Given the description of an element on the screen output the (x, y) to click on. 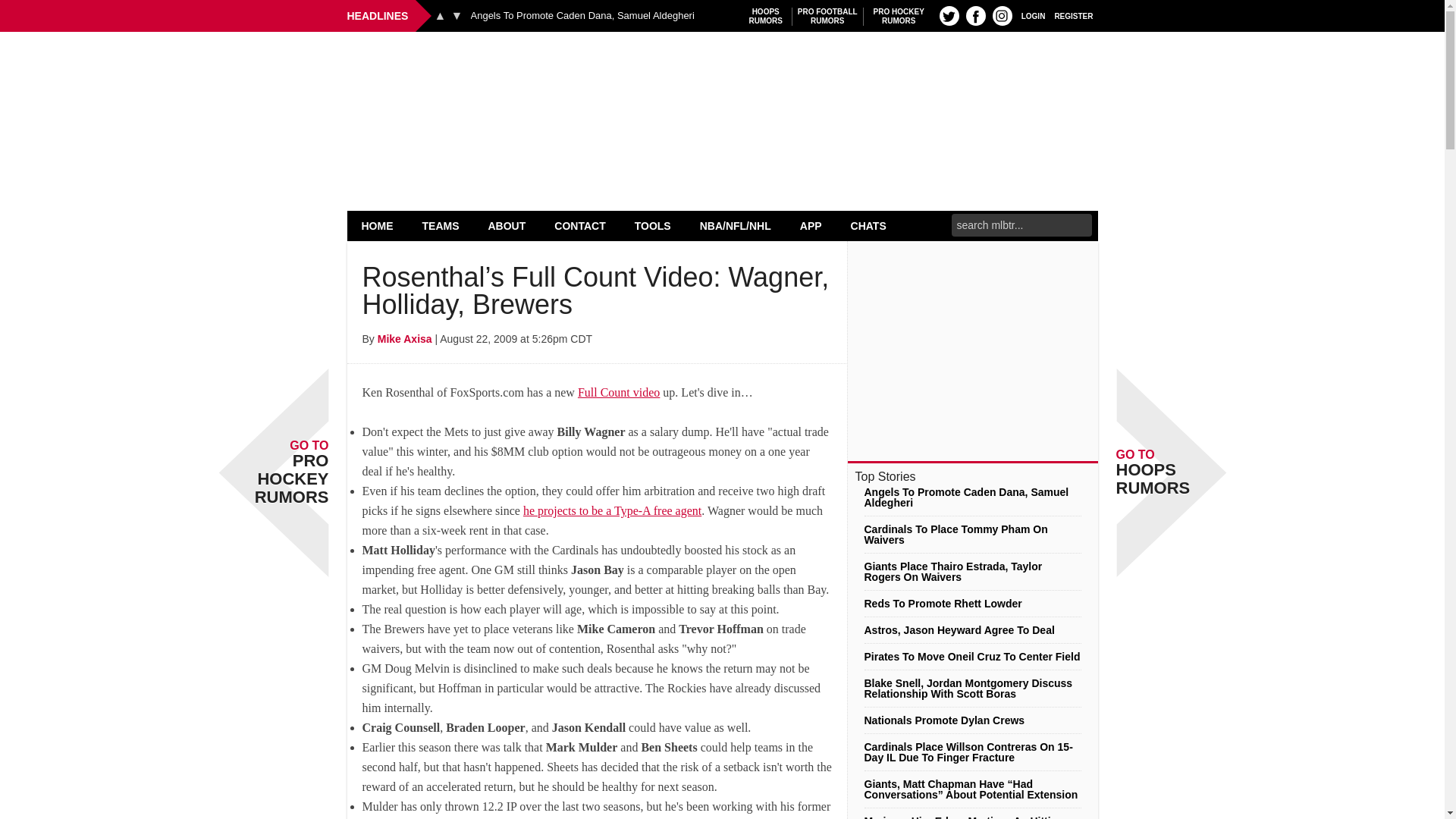
Previous (439, 15)
LOGIN (1032, 15)
Next (456, 15)
REGISTER (1073, 15)
MLB Trade Rumors (722, 69)
TEAMS (440, 225)
FB profile (898, 16)
Twitter profile (975, 15)
Angels To Promote Caden Dana, Samuel Aldegheri (949, 15)
